Given the description of an element on the screen output the (x, y) to click on. 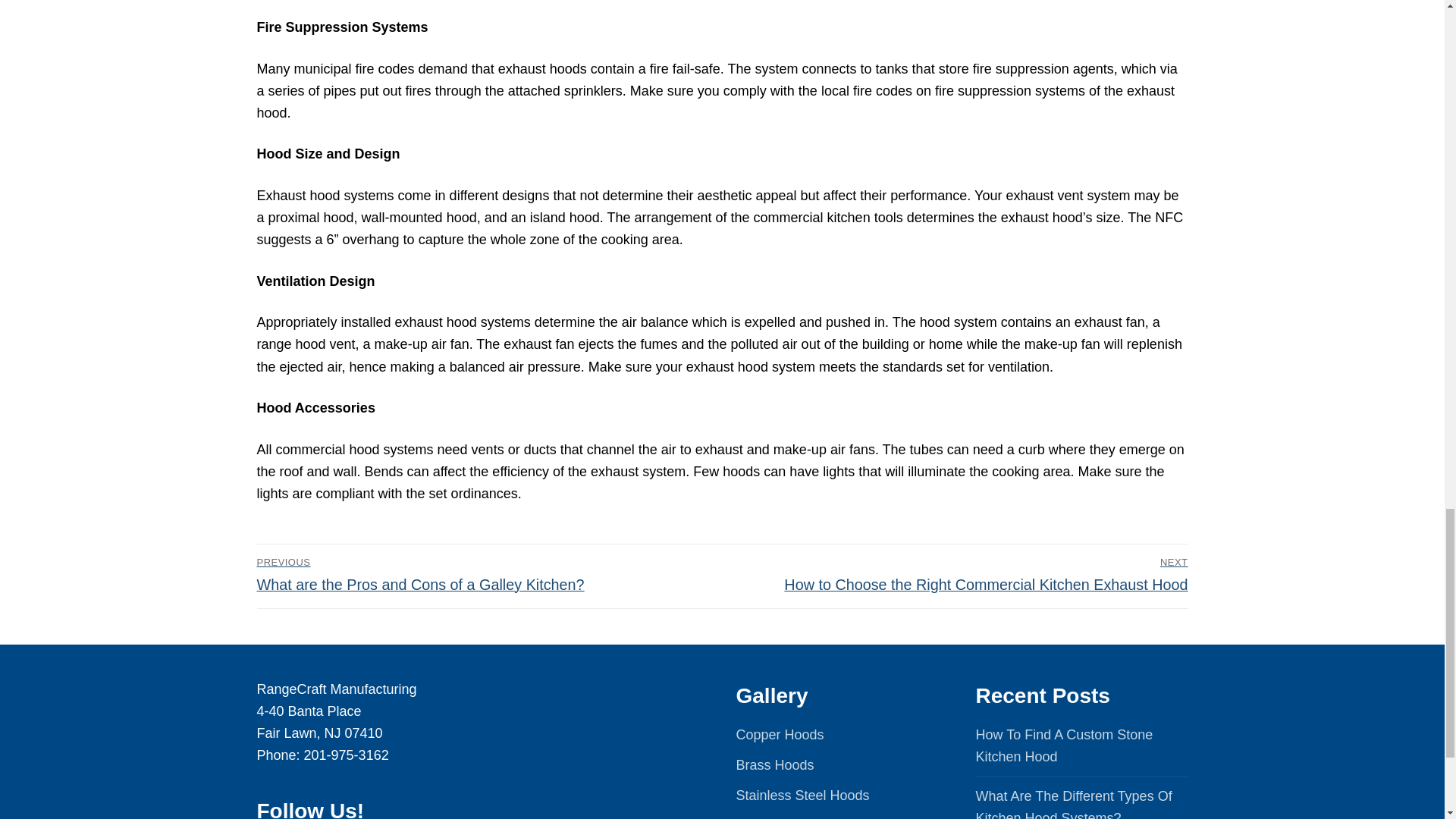
RangeCraft.com Location (601, 748)
